Given the description of an element on the screen output the (x, y) to click on. 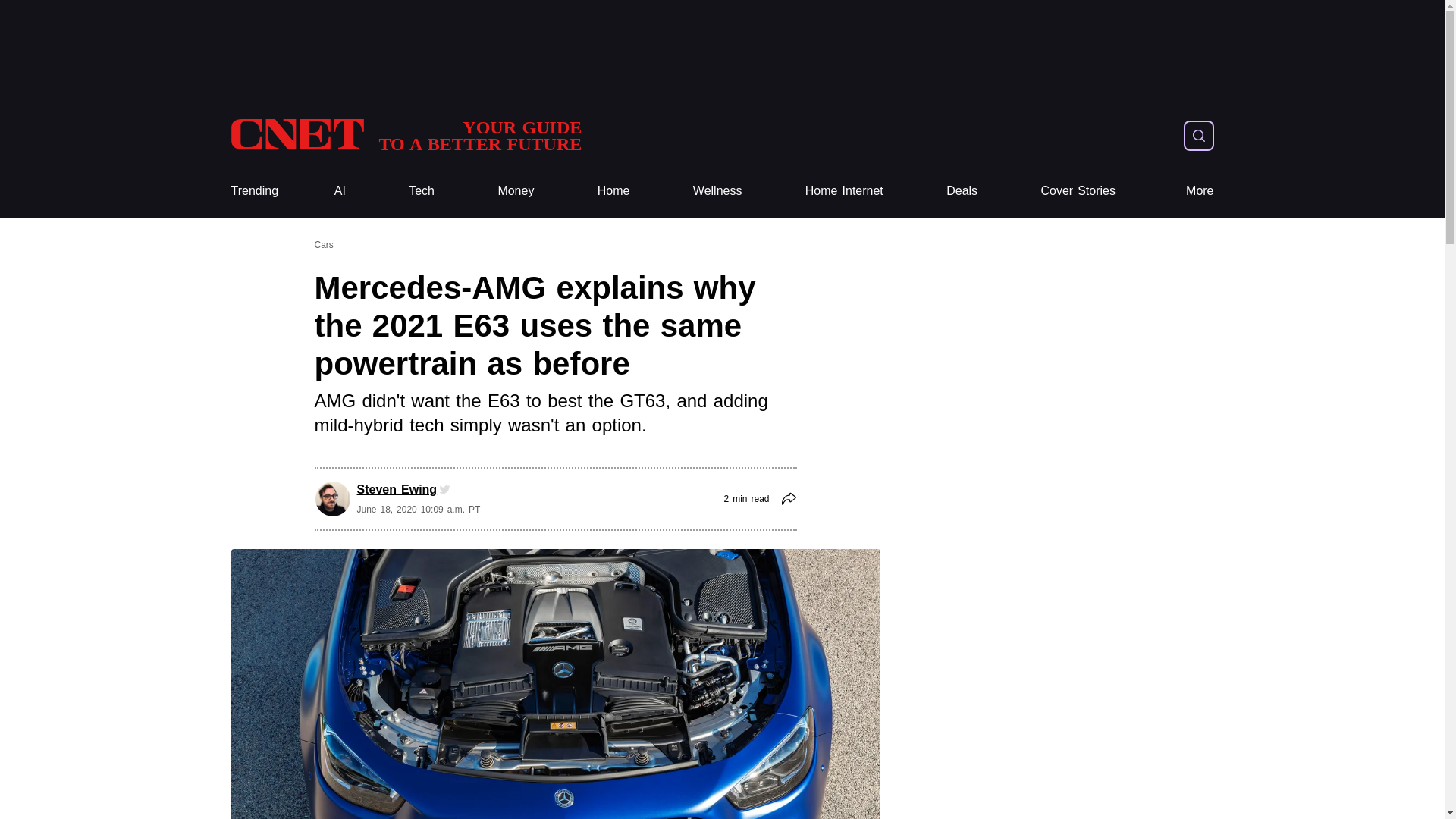
Wellness (717, 190)
Home (613, 190)
Trending (254, 190)
Home Internet (844, 190)
Tech (421, 190)
Home Internet (844, 190)
Money (515, 190)
Home (613, 190)
Wellness (717, 190)
Money (515, 190)
Tech (421, 190)
Deals (405, 135)
CNET (961, 190)
Cover Stories (405, 135)
